Given the description of an element on the screen output the (x, y) to click on. 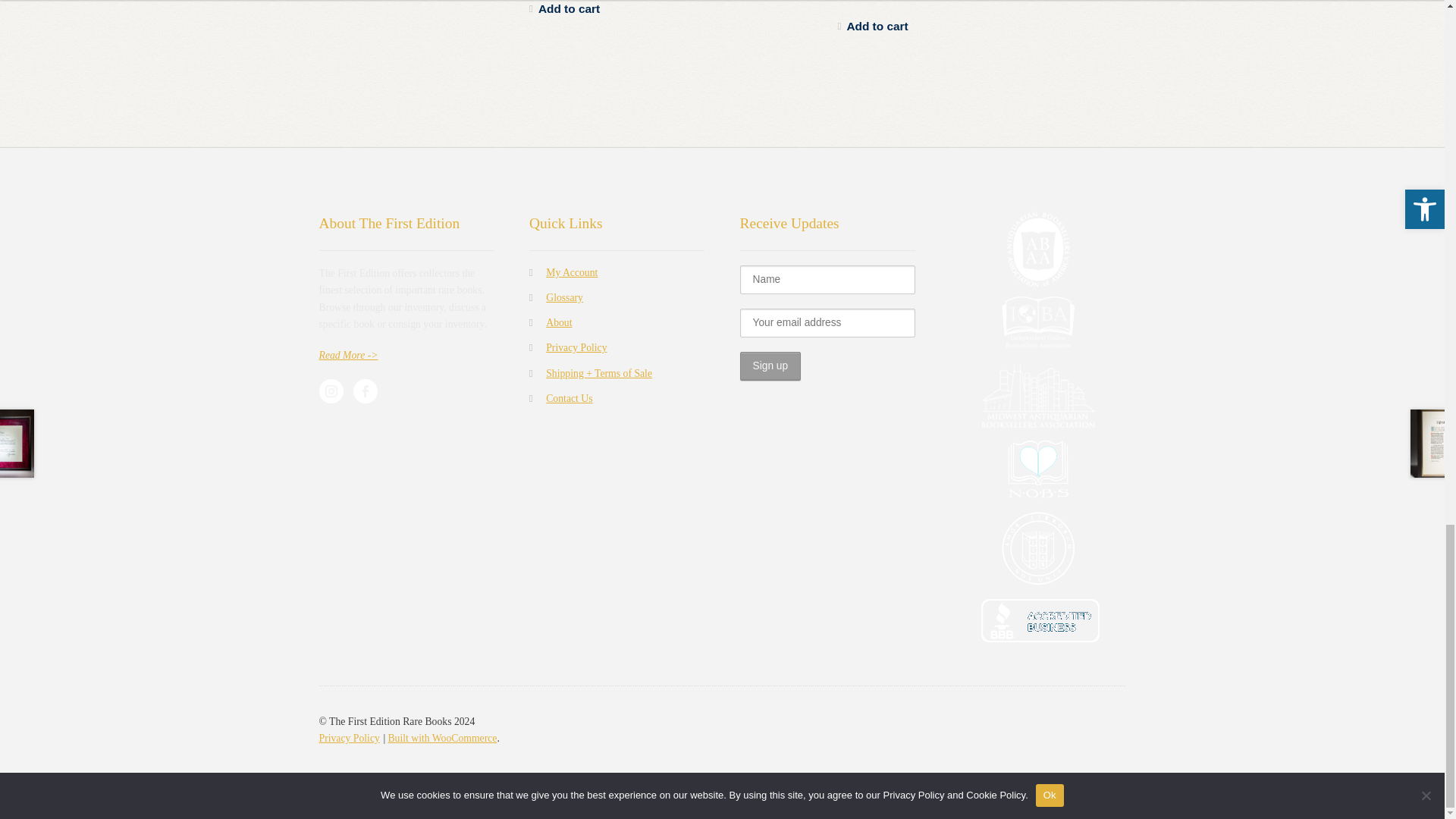
WooCommerce - The Best eCommerce Platform for WordPress (441, 737)
Sign up (769, 366)
